Given the description of an element on the screen output the (x, y) to click on. 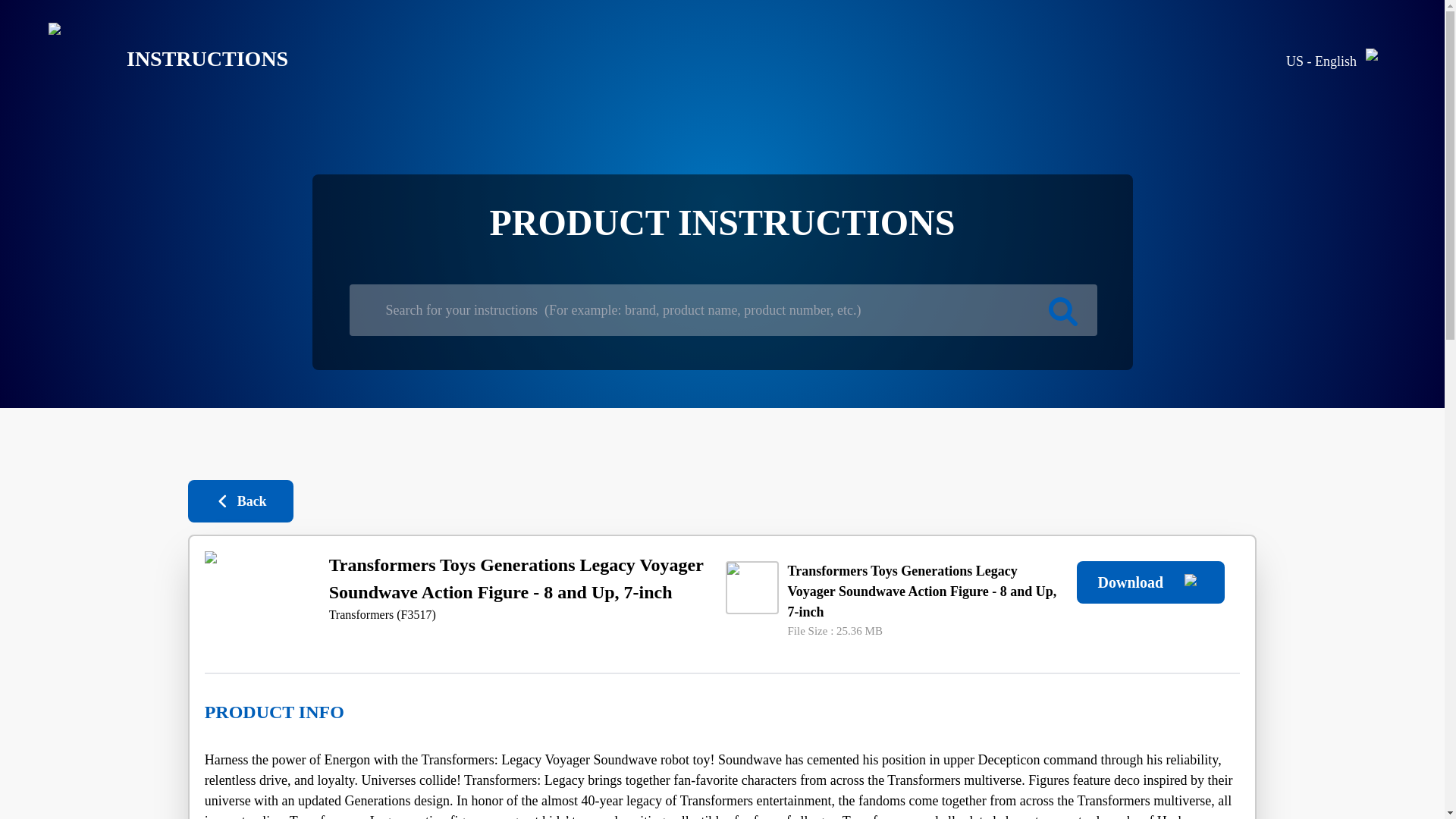
Back (240, 500)
INSTRUCTIONS (156, 59)
Download (1150, 582)
